Given the description of an element on the screen output the (x, y) to click on. 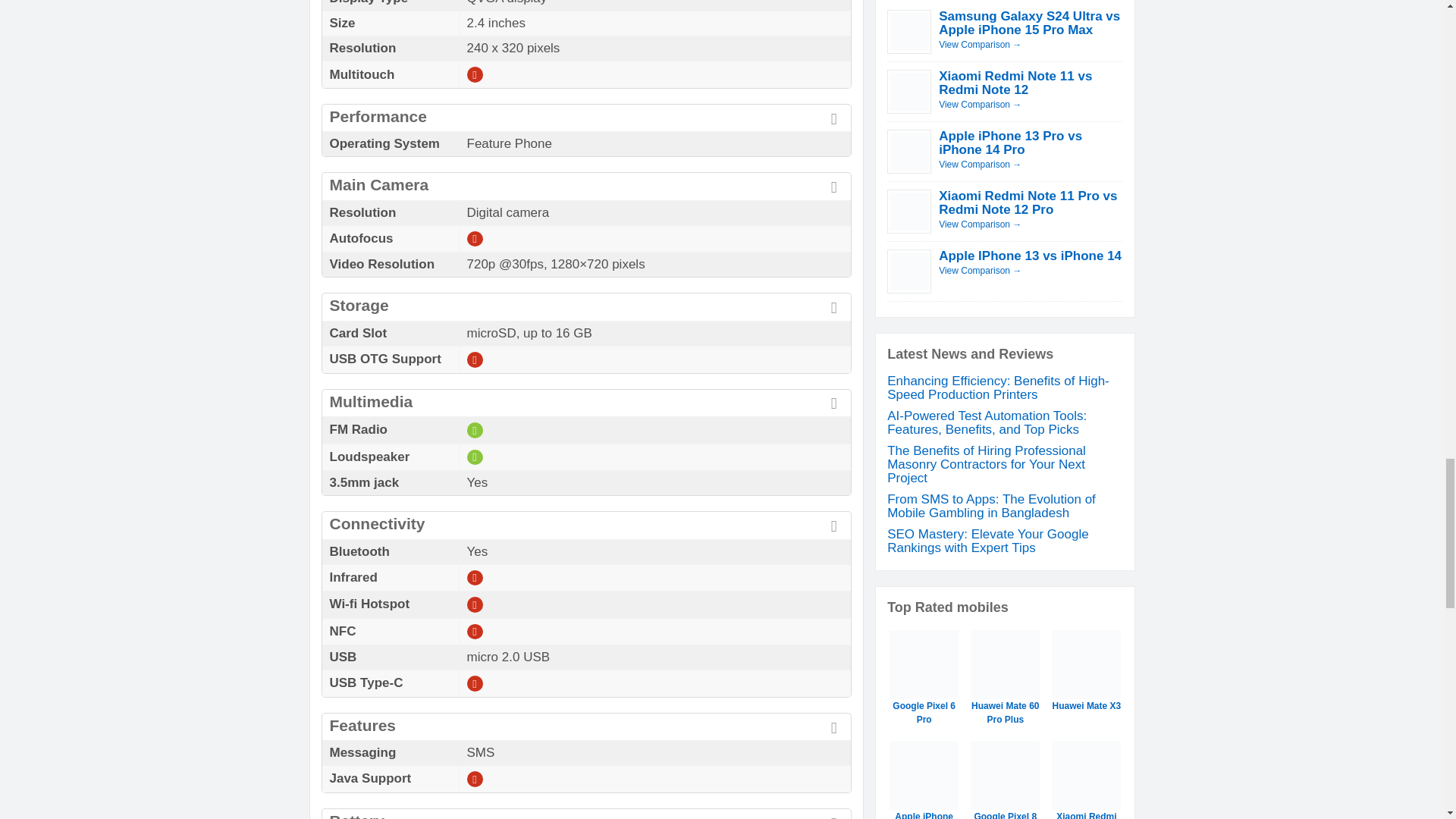
Xiaomi Redmi Note 11 vs Redmi Note 12 (980, 104)
Apple iPhone 13 Pro vs iPhone 14 Pro (1010, 142)
Xiaomi Redmi Note 11 vs Redmi Note 12 (1015, 82)
Samsung Galaxy S24 Ultra vs Apple iPhone 15 Pro Max (980, 44)
Samsung Galaxy S24 Ultra vs Apple iPhone 15 Pro Max (1029, 22)
Apple iPhone 13 Pro vs iPhone 14 Pro (980, 163)
